Given the description of an element on the screen output the (x, y) to click on. 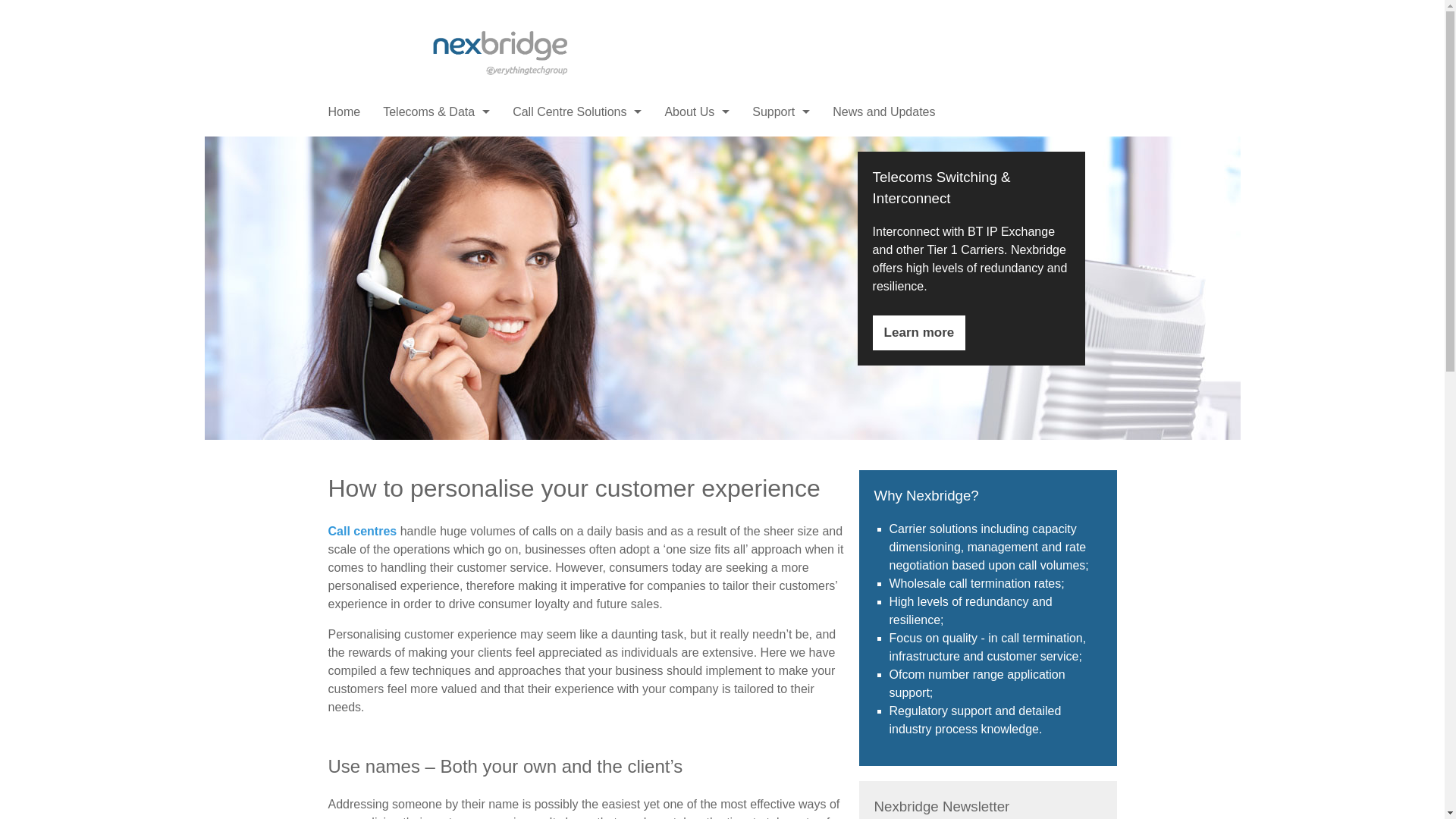
About Us (696, 111)
Call Centre Solutions (576, 111)
Call centres (361, 530)
News and Updates (883, 111)
Home (344, 111)
Support (781, 111)
Learn more (919, 332)
